Given the description of an element on the screen output the (x, y) to click on. 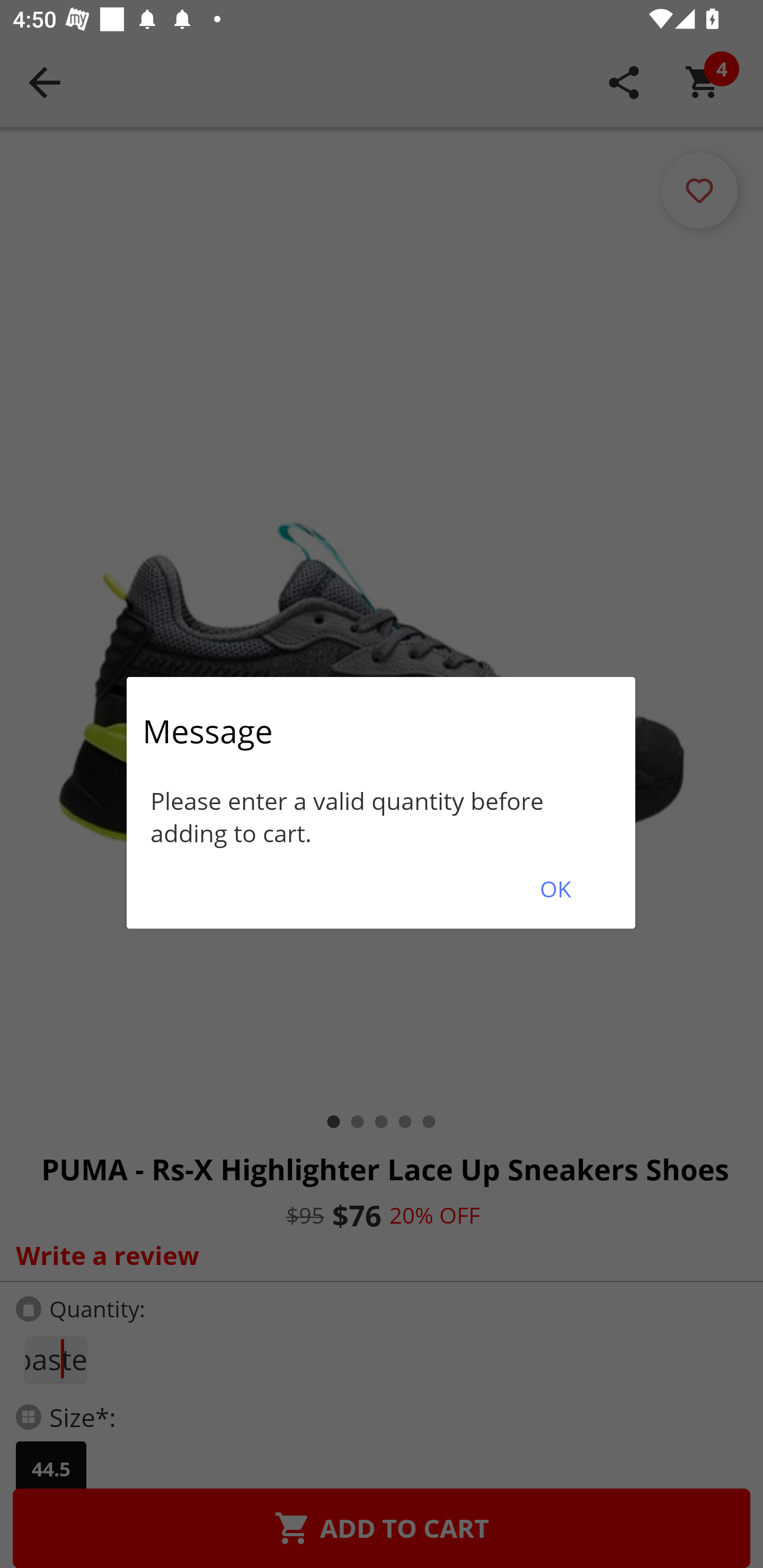
OK (555, 888)
